Given the description of an element on the screen output the (x, y) to click on. 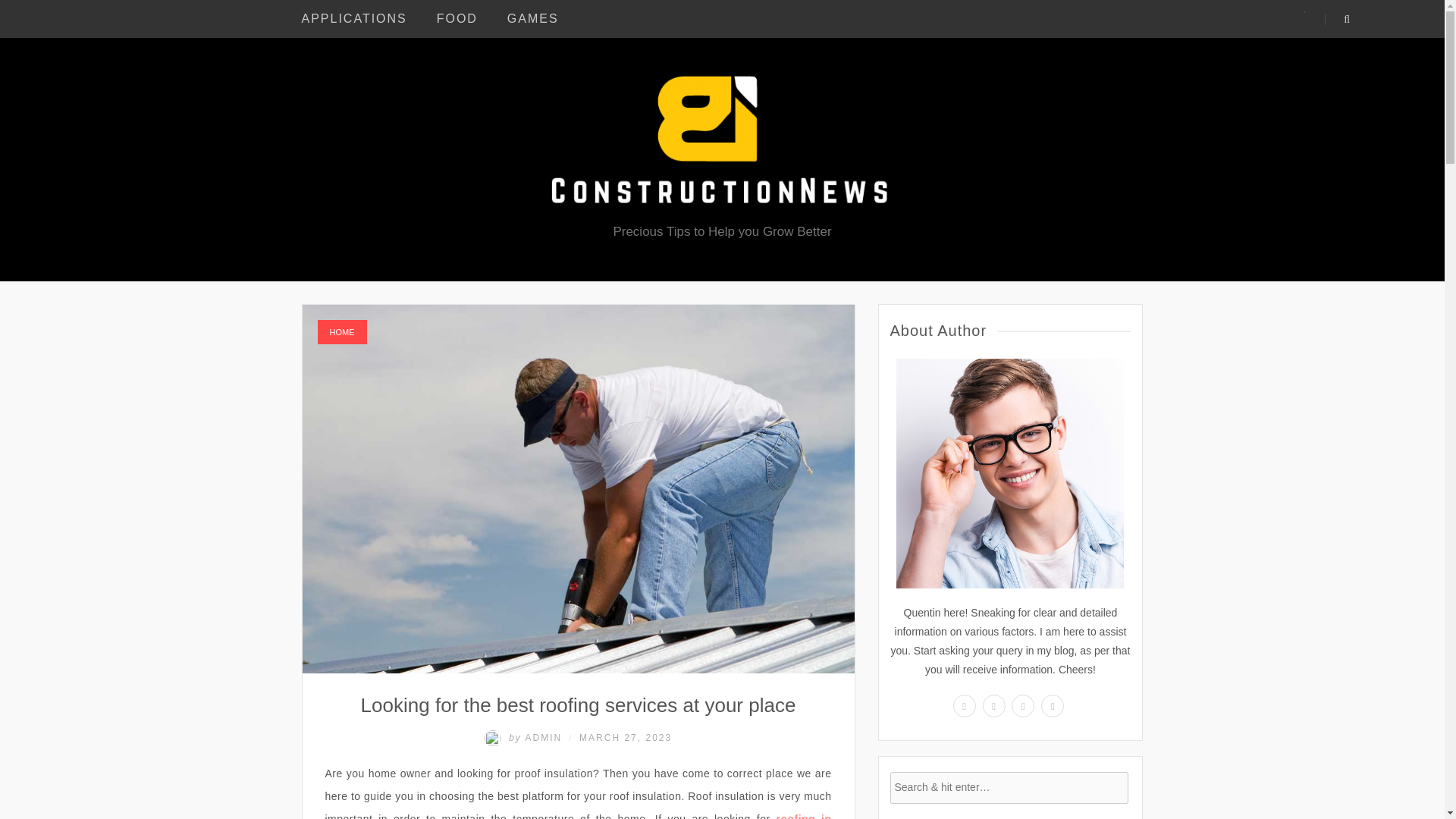
by ADMIN (525, 737)
Twitter (1022, 705)
View all posts in Home (341, 331)
Games (532, 18)
GAMES (532, 18)
APPLICATIONS (354, 18)
Pinterest (1052, 705)
Applications (354, 18)
FOOD (456, 18)
Facebook (994, 705)
HOME (341, 331)
Food (456, 18)
Feed (964, 705)
roofing in pickering (577, 816)
